Given the description of an element on the screen output the (x, y) to click on. 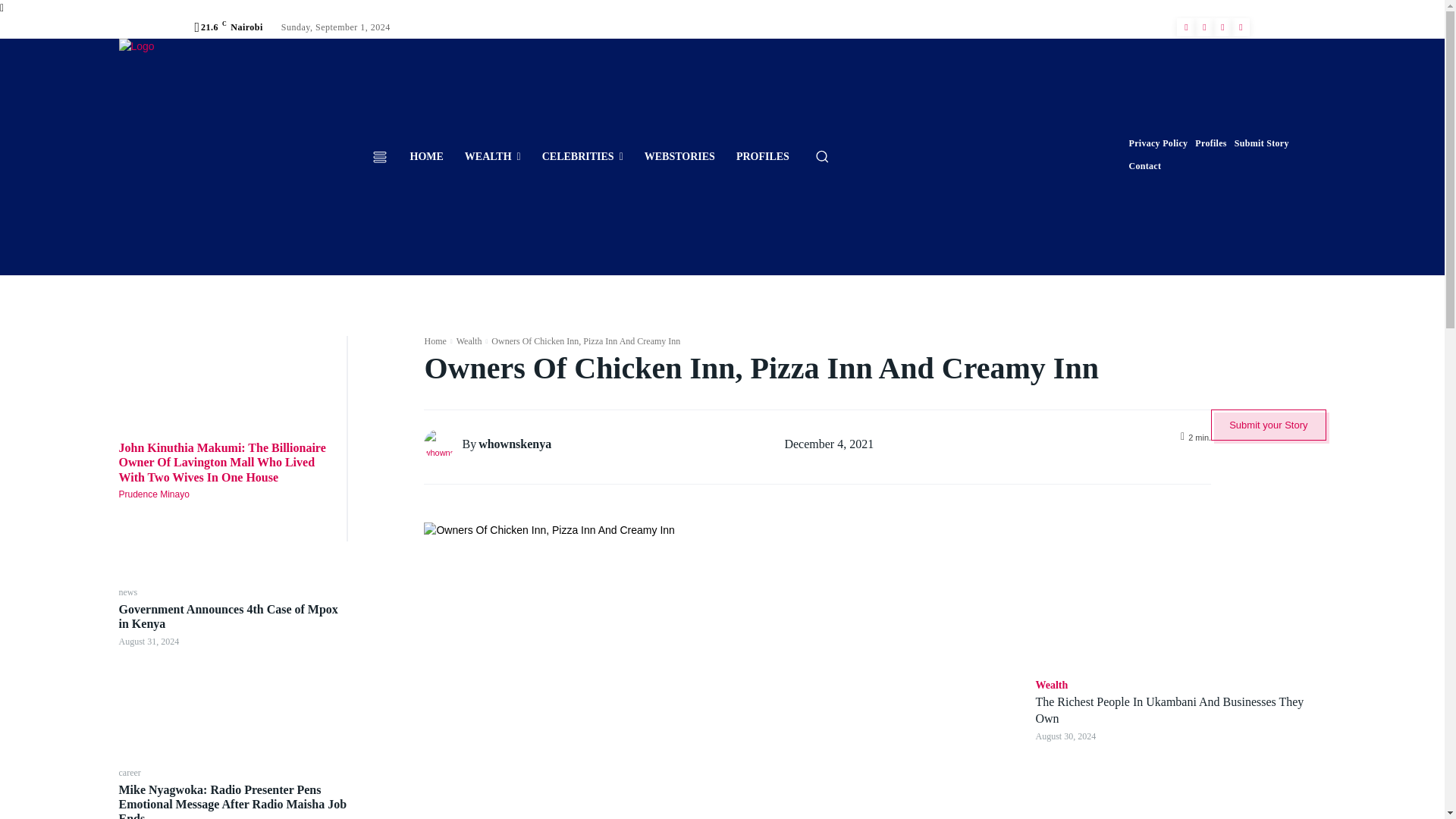
Facebook (1185, 27)
Instagram (1203, 27)
Youtube (1240, 27)
Twitter (1221, 27)
